Given the description of an element on the screen output the (x, y) to click on. 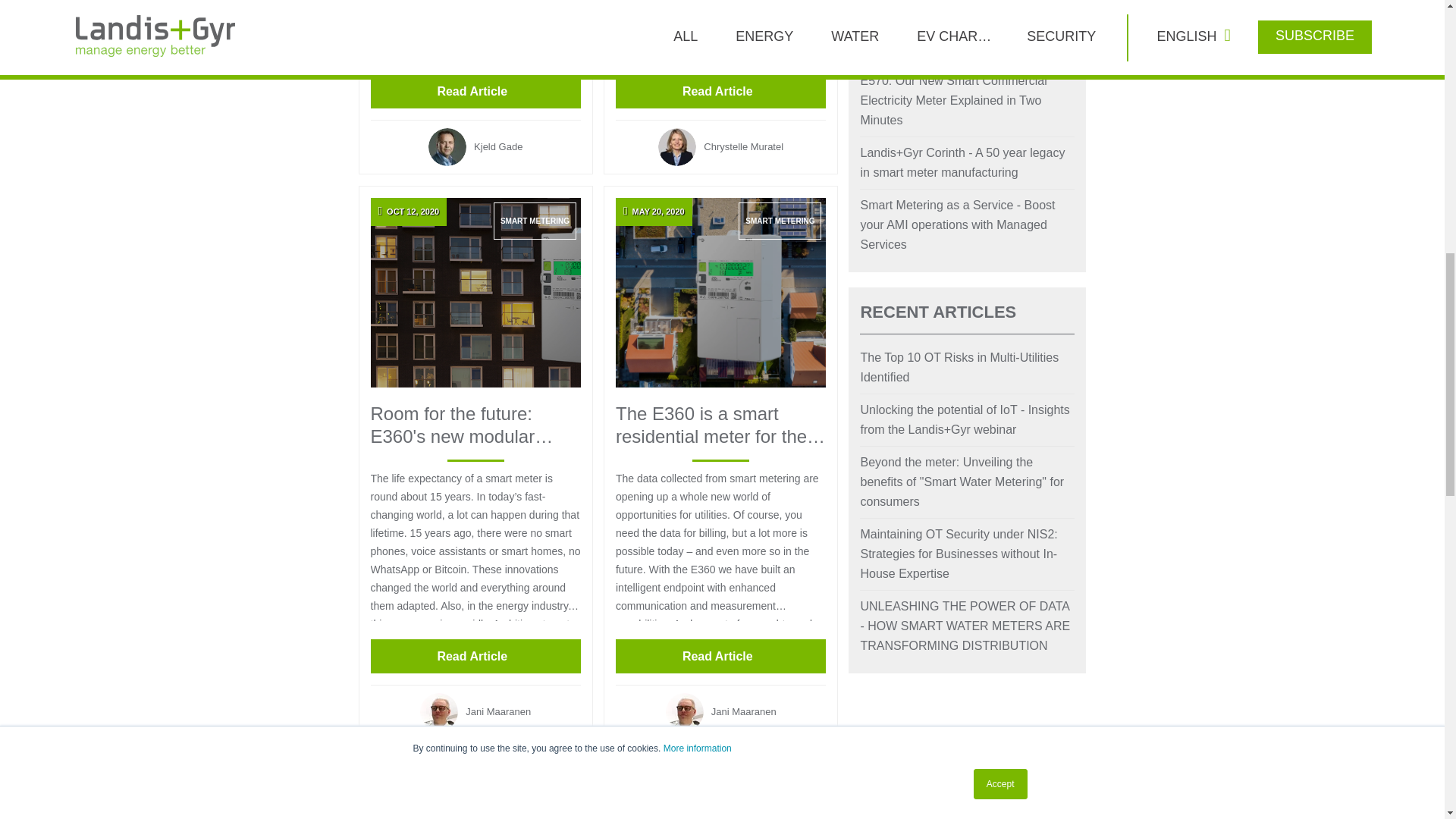
 OCT 12, 2020 (474, 292)
Chrystelle Muratel (720, 146)
Read Article   (720, 91)
Kjeld Gade (475, 146)
Read Article   (474, 91)
